Given the description of an element on the screen output the (x, y) to click on. 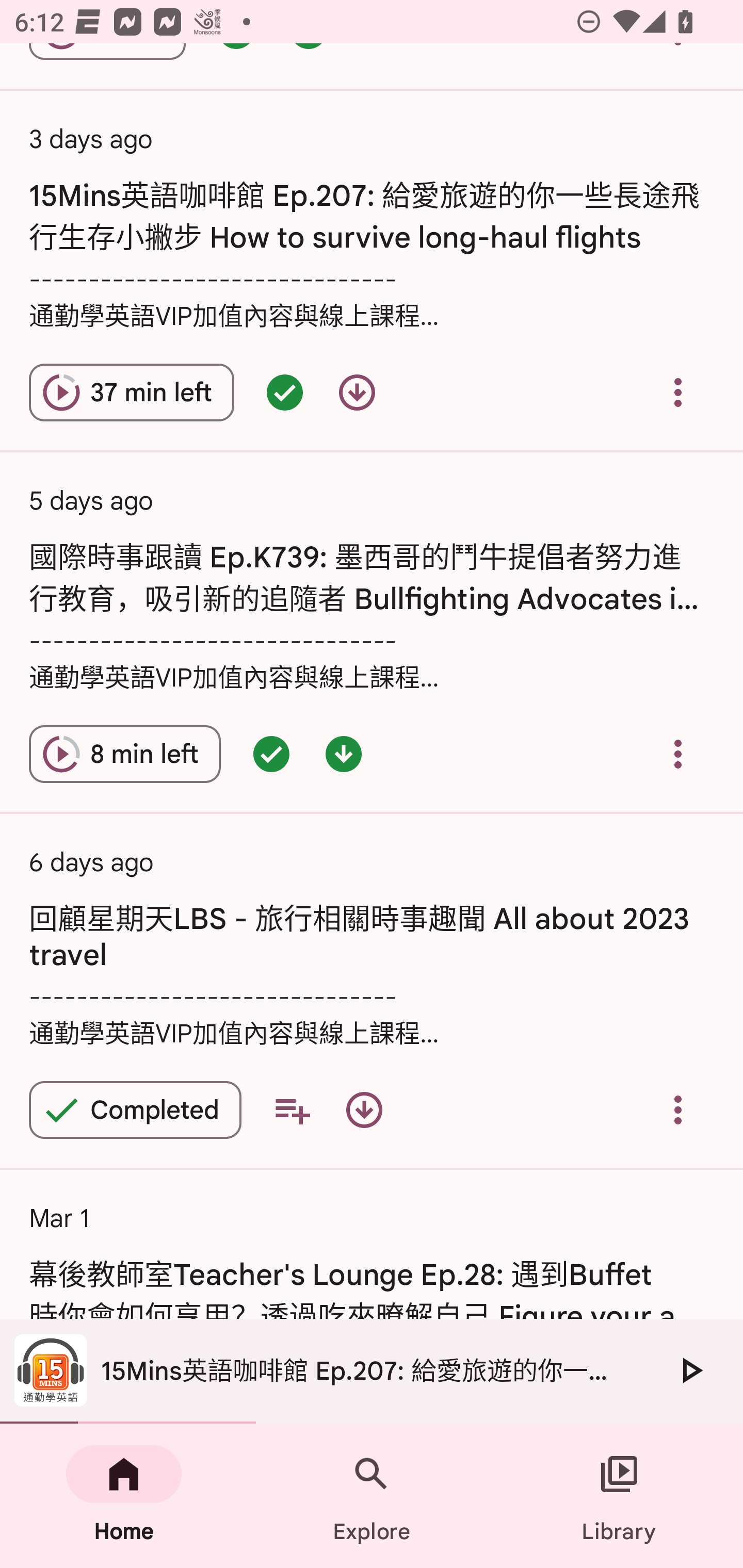
Episode queued - double tap for options (284, 392)
Download episode (356, 392)
Overflow menu (677, 392)
Episode queued - double tap for options (271, 754)
Episode downloaded - double tap for options (343, 754)
Overflow menu (677, 754)
Add to your queue (291, 1110)
Download episode (364, 1110)
Overflow menu (677, 1110)
Play (690, 1370)
Explore (371, 1495)
Library (619, 1495)
